Given the description of an element on the screen output the (x, y) to click on. 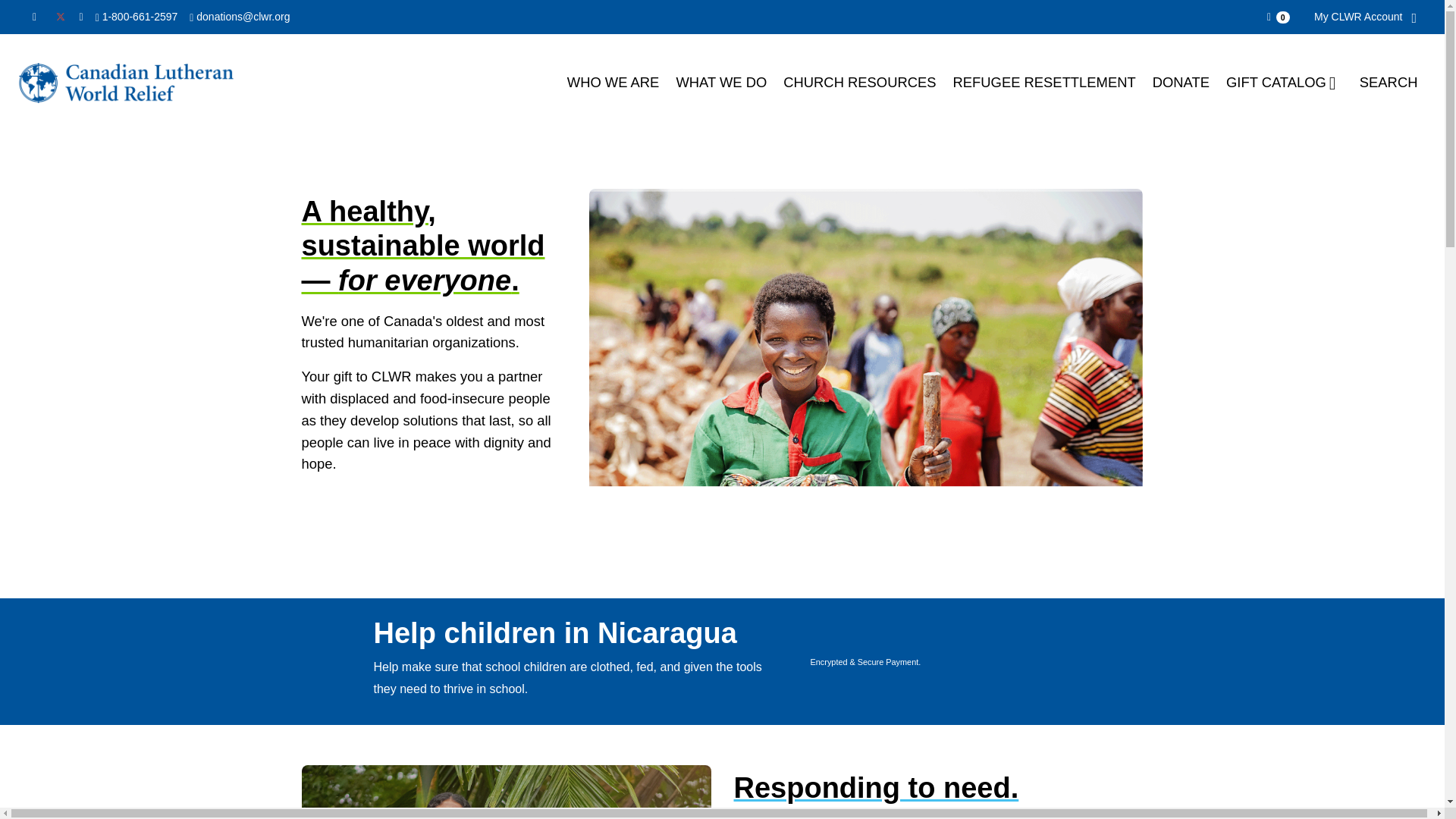
DONATE (1180, 82)
WHAT WE DO (720, 82)
CHURCH RESOURCES (858, 82)
GIFT CATALOG (1284, 82)
SEARCH (1388, 82)
REFUGEE RESETTLEMENT (1044, 82)
WHO WE ARE (613, 82)
0 (1275, 17)
My CLWR Account (1361, 17)
